Given the description of an element on the screen output the (x, y) to click on. 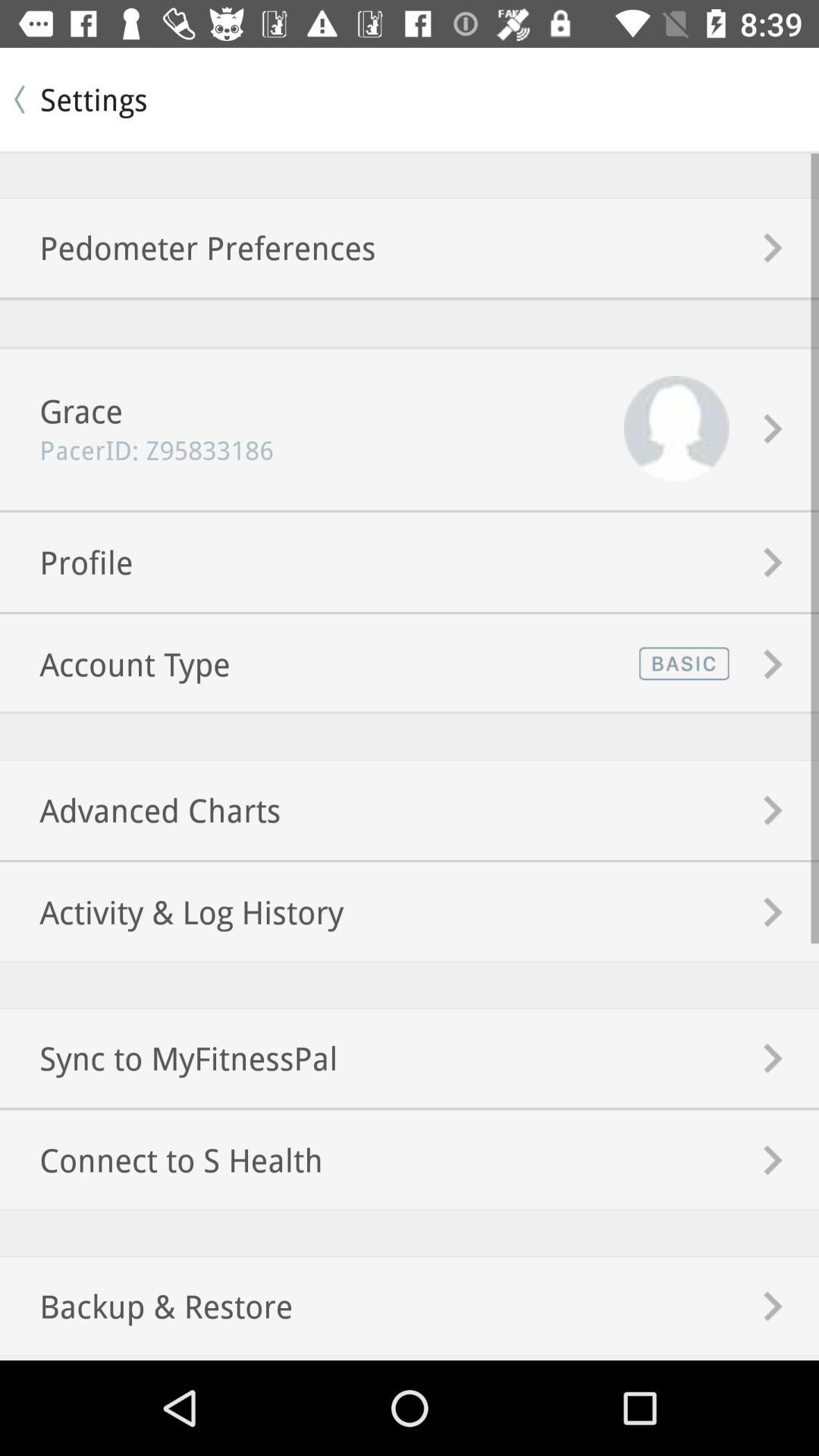
select the icon below the advanced charts (171, 911)
